Given the description of an element on the screen output the (x, y) to click on. 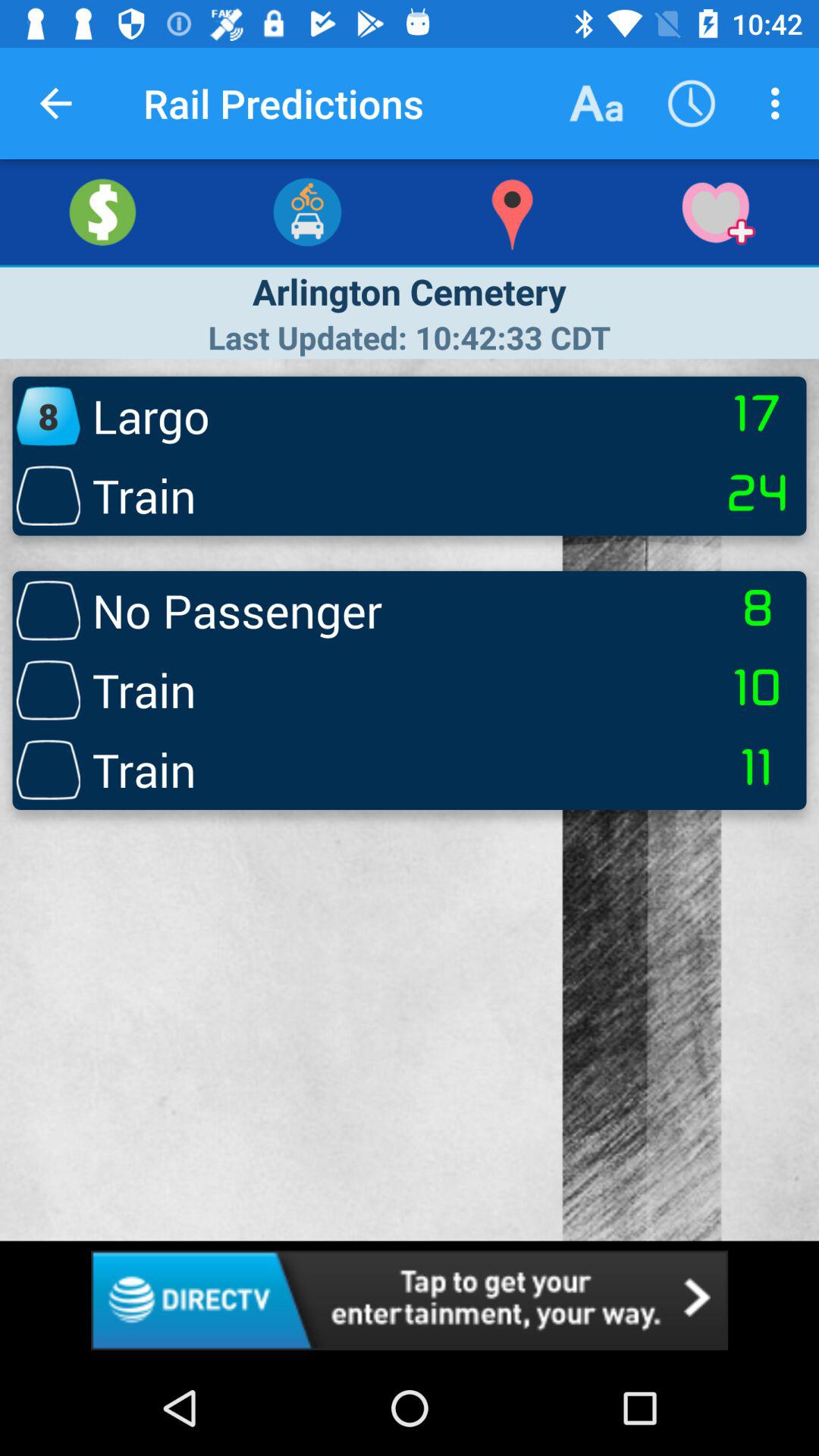
add to favourites (716, 212)
